Given the description of an element on the screen output the (x, y) to click on. 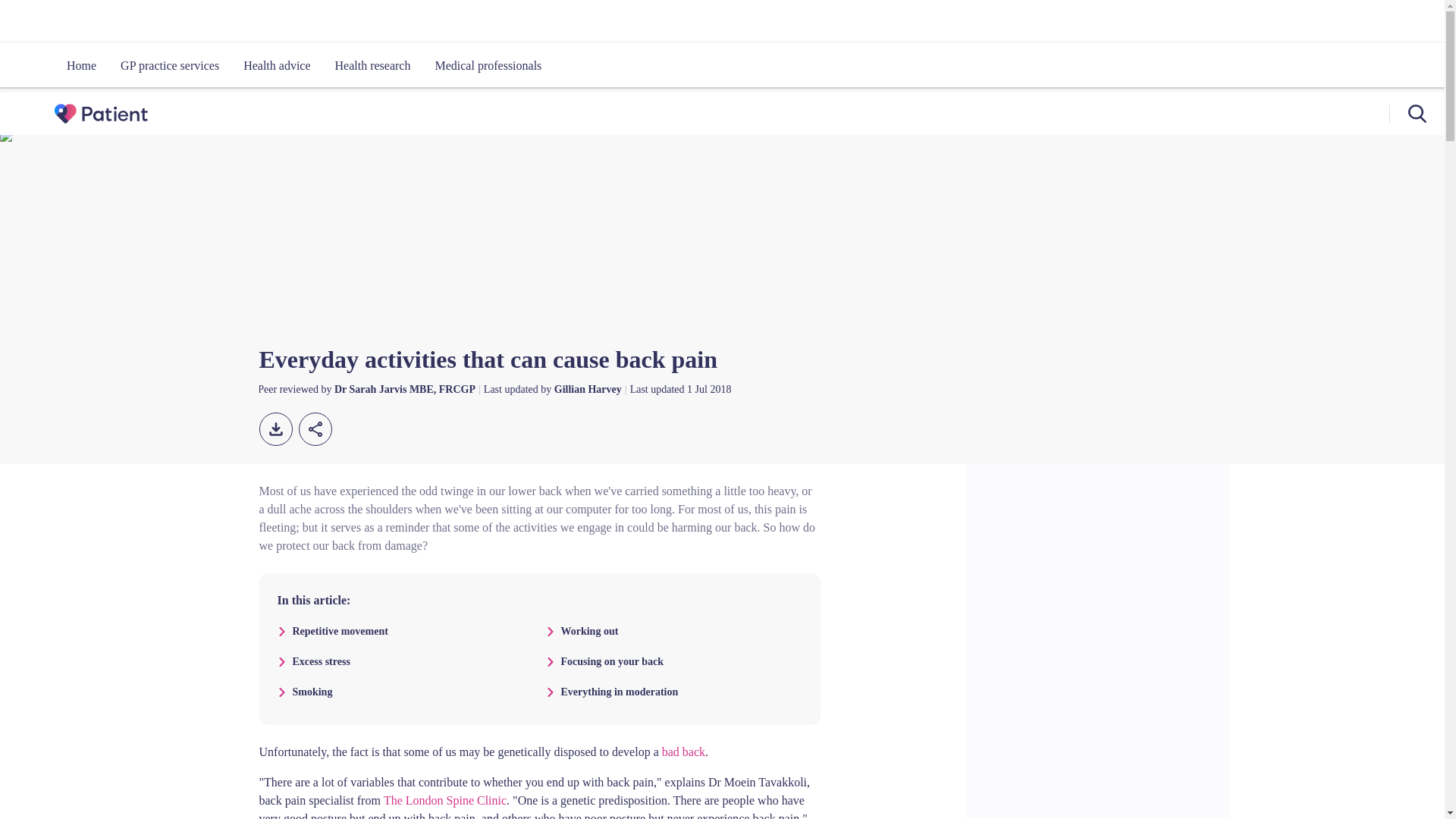
Home (81, 65)
GP practice services (169, 65)
Medical professionals (487, 65)
Health advice (276, 65)
Health research (373, 65)
